Given the description of an element on the screen output the (x, y) to click on. 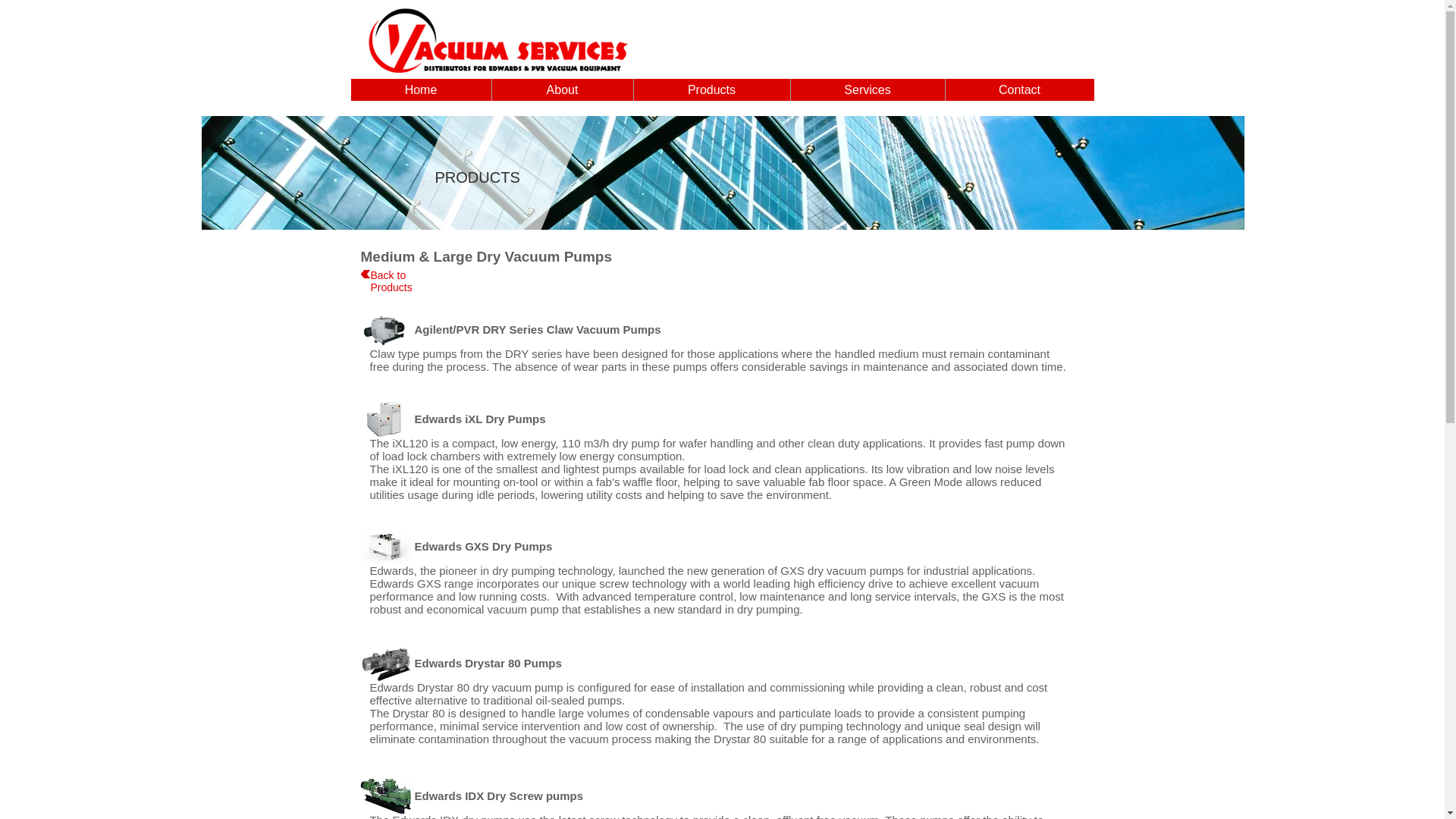
Glass Ceiling (723, 173)
Home (420, 89)
Services (867, 89)
About (562, 89)
Products (710, 89)
Contact (1019, 89)
Back to Products (390, 281)
